Given the description of an element on the screen output the (x, y) to click on. 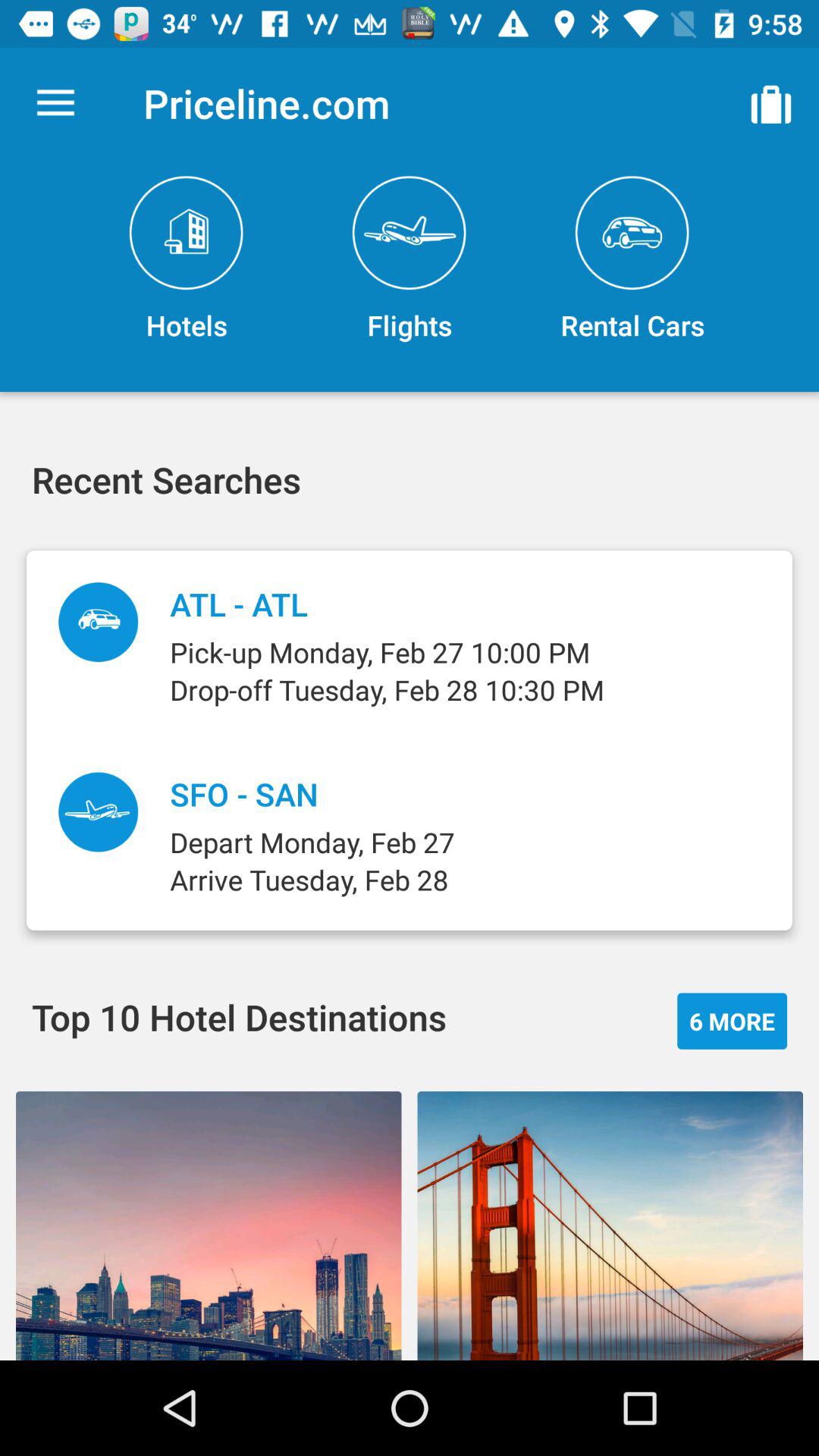
click the item to the right of the flights (771, 103)
